Given the description of an element on the screen output the (x, y) to click on. 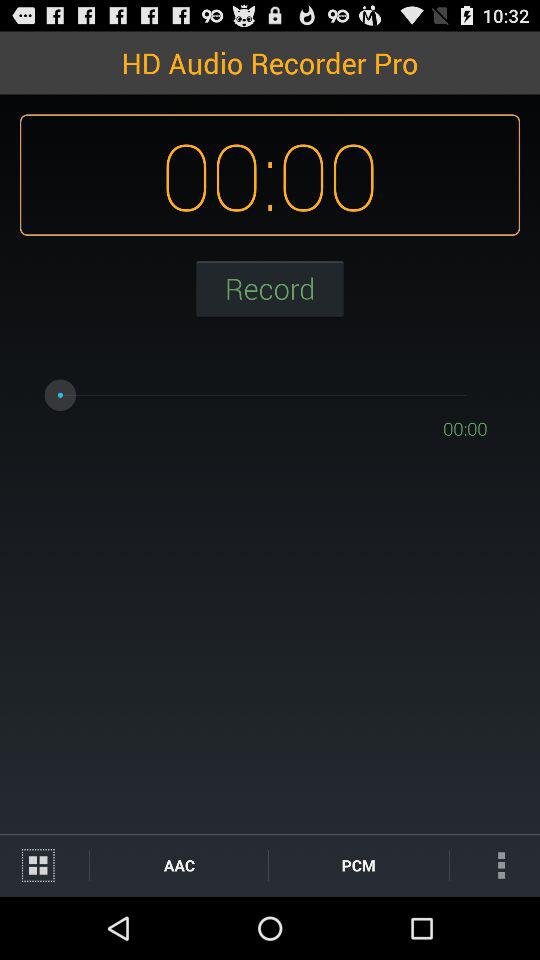
turn on the icon next to aac icon (44, 864)
